Given the description of an element on the screen output the (x, y) to click on. 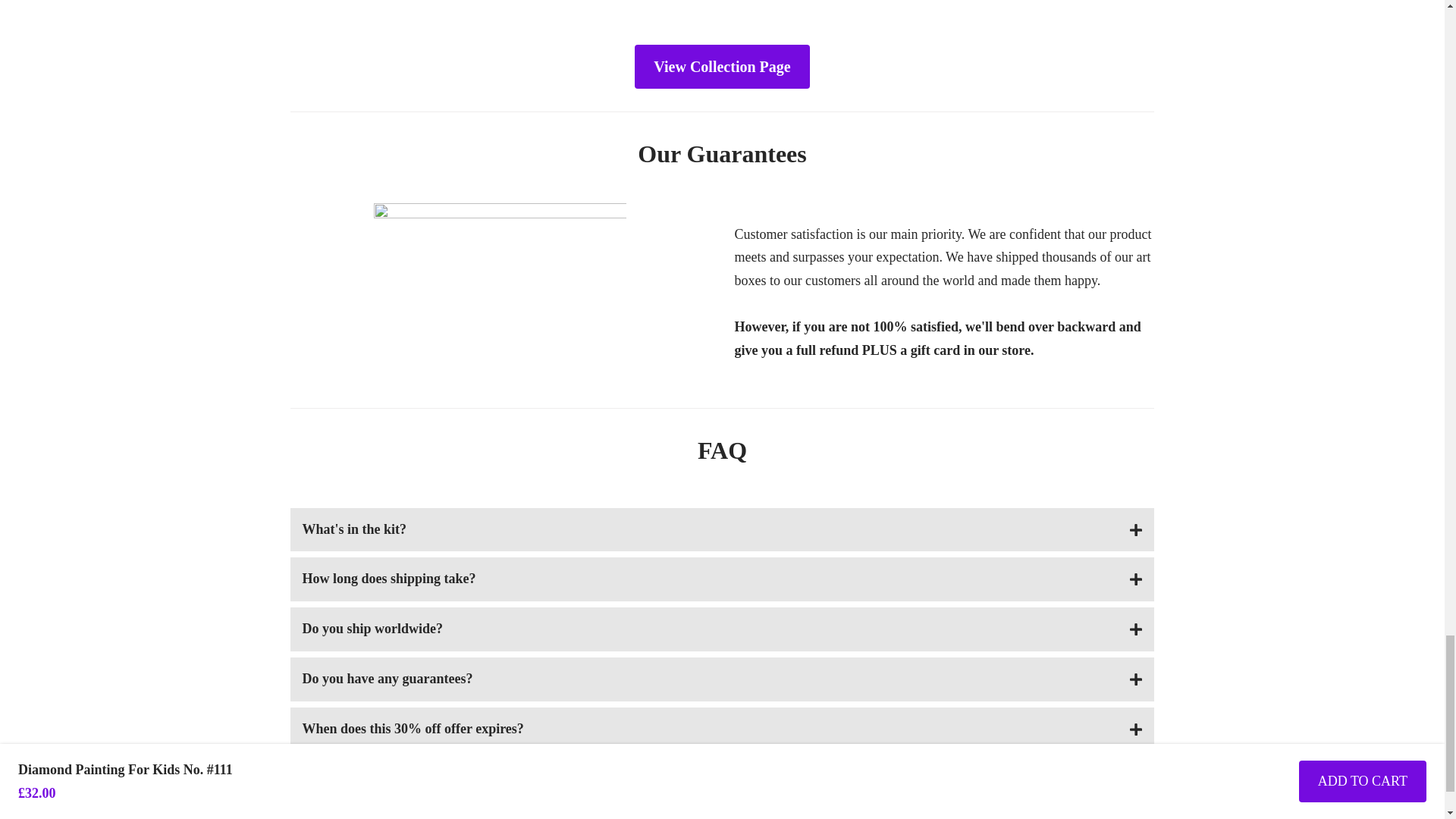
Do you have any guarantees? (721, 679)
View Collection Page (721, 66)
What's in the kit? (721, 529)
Do you ship worldwide? (721, 629)
How long does shipping take? (721, 579)
